Given the description of an element on the screen output the (x, y) to click on. 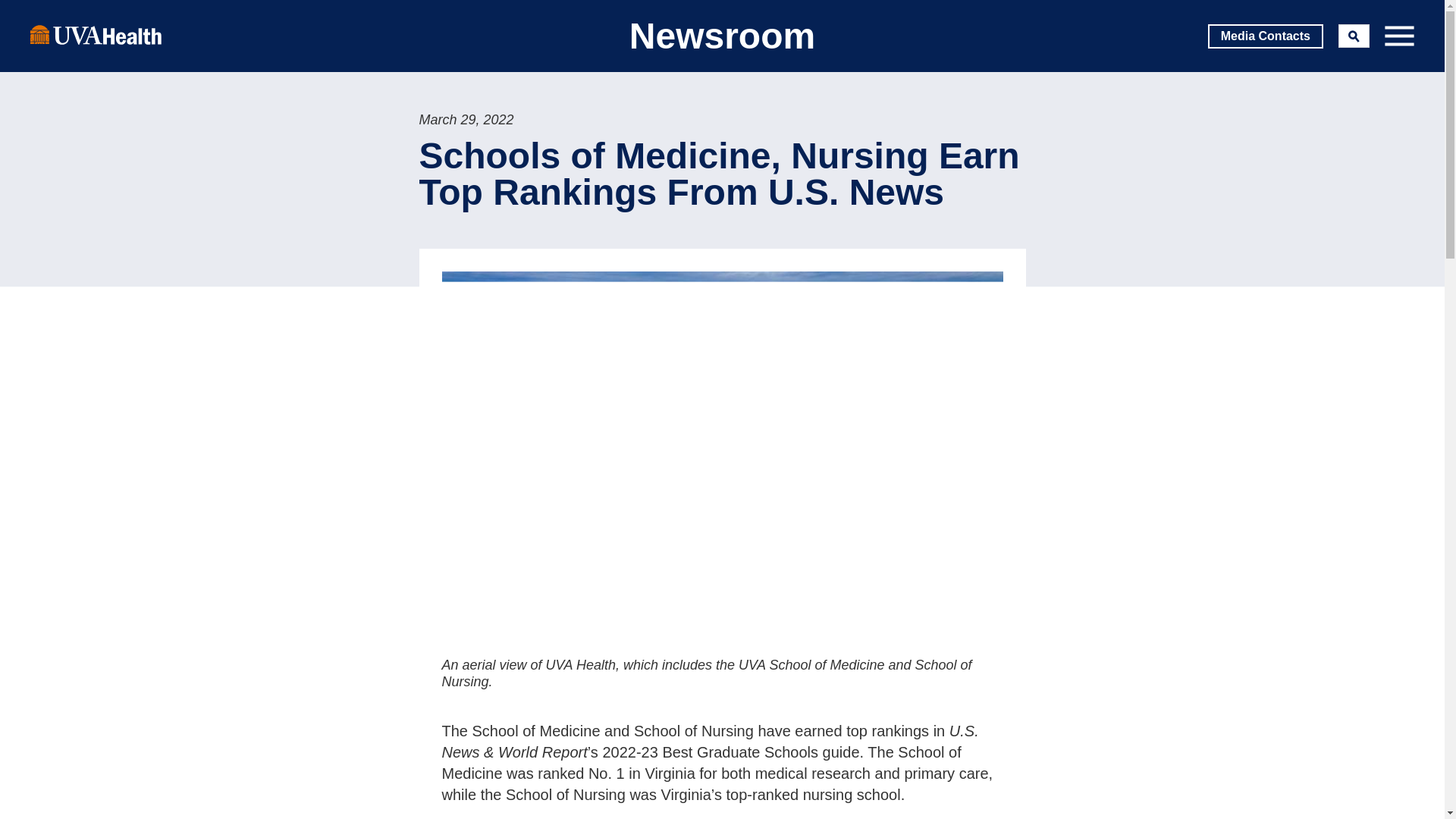
Search Toggle (1354, 35)
menu toggle (1398, 36)
Newsroom (722, 35)
UVA Health logo of UVA Health (95, 34)
Media Contacts (1265, 36)
